Given the description of an element on the screen output the (x, y) to click on. 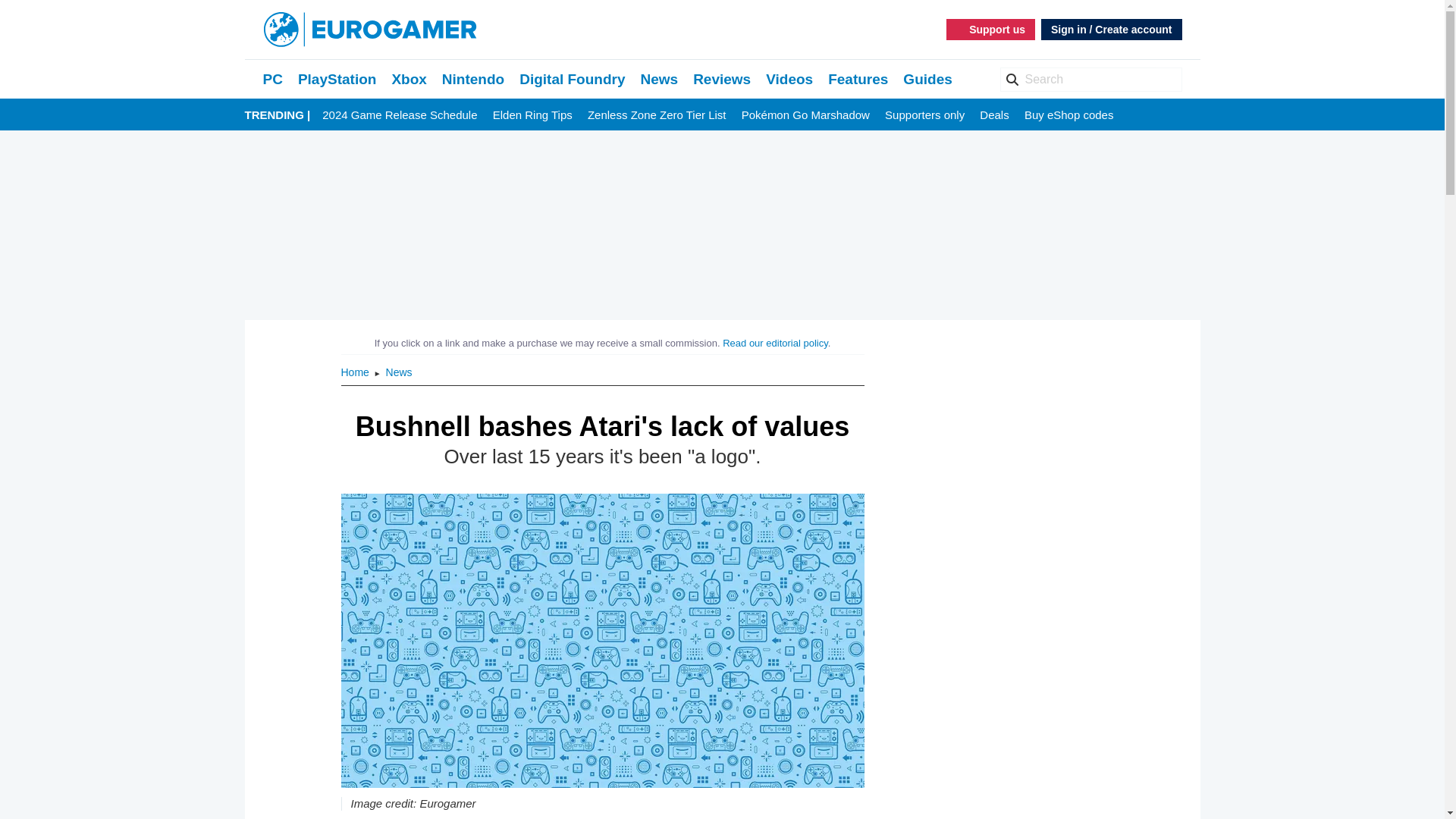
News (659, 78)
PlayStation (336, 78)
Videos (788, 78)
News (398, 372)
News (398, 372)
Supporters only (924, 114)
Buy eShop codes (1069, 114)
Digital Foundry (571, 78)
Zenless Zone Zero Tier List (657, 114)
Xbox (408, 78)
Home (356, 372)
Buy eShop codes (1069, 114)
Features (858, 78)
Elden Ring Tips (532, 114)
Zenless Zone Zero Tier List (657, 114)
